Given the description of an element on the screen output the (x, y) to click on. 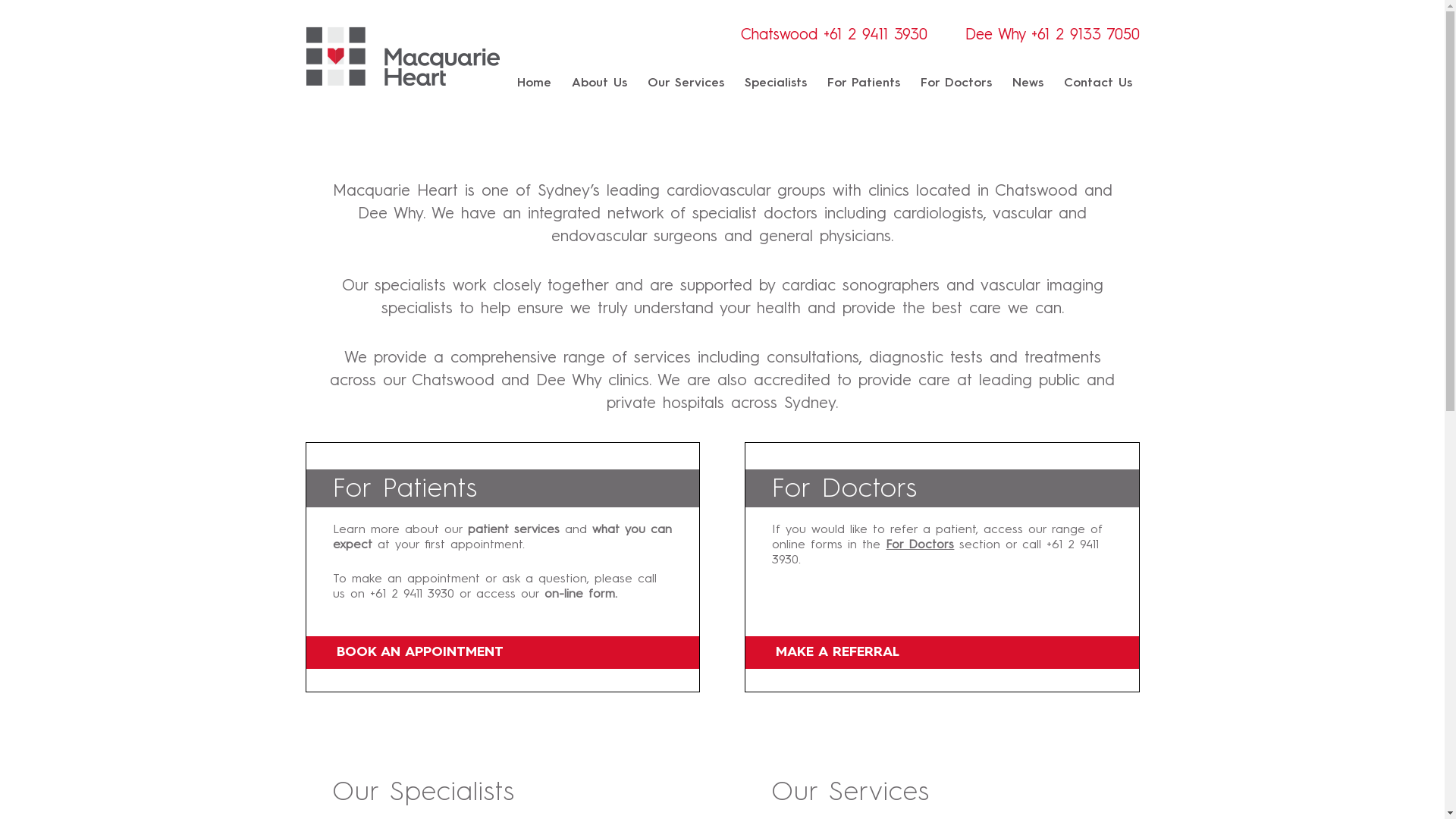
patient services Element type: text (512, 530)
Chatswood +61 2 9411 3930 Element type: text (833, 35)
Home Element type: text (534, 83)
+61 2 9411 3930 Element type: text (934, 552)
Our Services Element type: text (685, 83)
For Doctors Element type: text (955, 83)
what you can expect Element type: text (501, 537)
Contact Us Element type: text (1097, 83)
Dee Why +61 2 9133 7050 Element type: text (1051, 35)
For Patients Element type: text (862, 83)
For Doctors Element type: text (919, 545)
+61 2 9411 3930 Element type: text (412, 594)
Specialists Element type: text (775, 83)
News Element type: text (1026, 83)
BOOK AN APPOINTMENT Element type: text (502, 652)
on-line form Element type: text (579, 594)
About Us Element type: text (599, 83)
MAKE A REFERRAL Element type: text (941, 652)
